Given the description of an element on the screen output the (x, y) to click on. 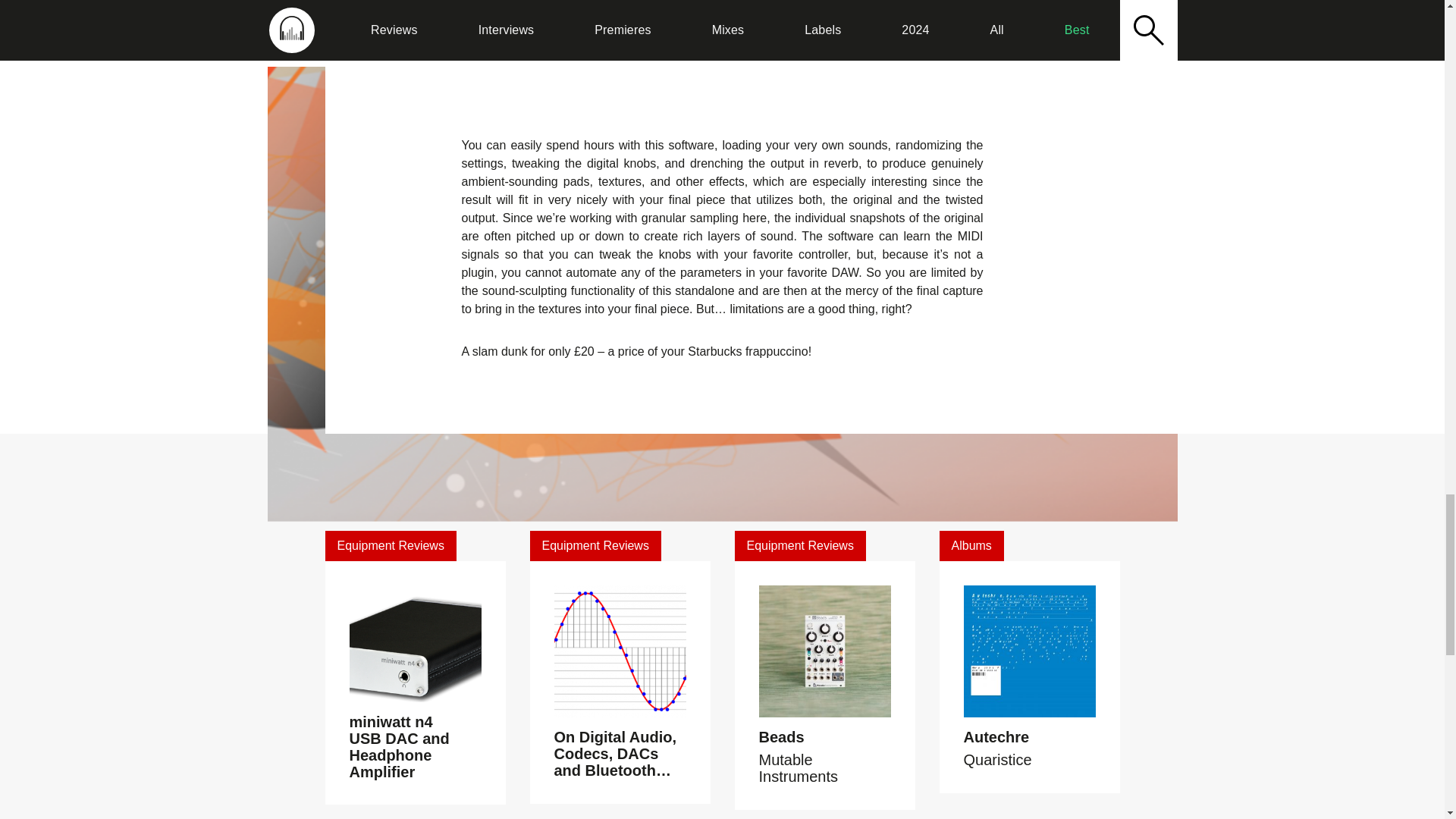
Equipment Reviews (389, 545)
Quaristice (996, 759)
Autechre (995, 736)
Albums (971, 545)
Beads (780, 736)
miniwatt n4 USB DAC and Headphone Amplifier (398, 746)
Equipment Reviews (798, 545)
Mutable Instruments (797, 767)
Equipment Reviews (595, 545)
